Given the description of an element on the screen output the (x, y) to click on. 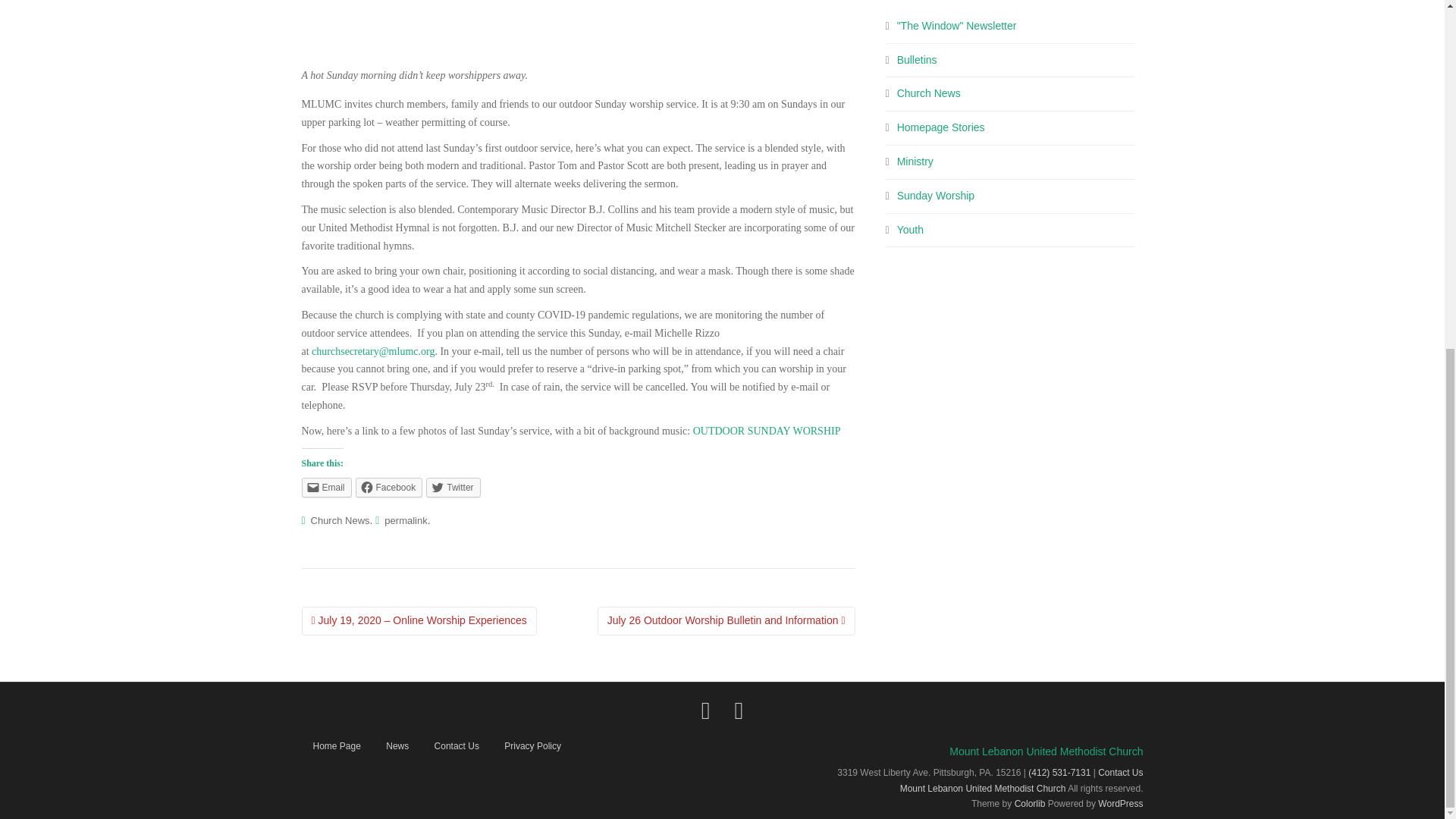
OUTDOOR SUNDAY WORSHIP (767, 430)
Email (326, 487)
Facebook (389, 487)
Twitter (453, 487)
